Given the description of an element on the screen output the (x, y) to click on. 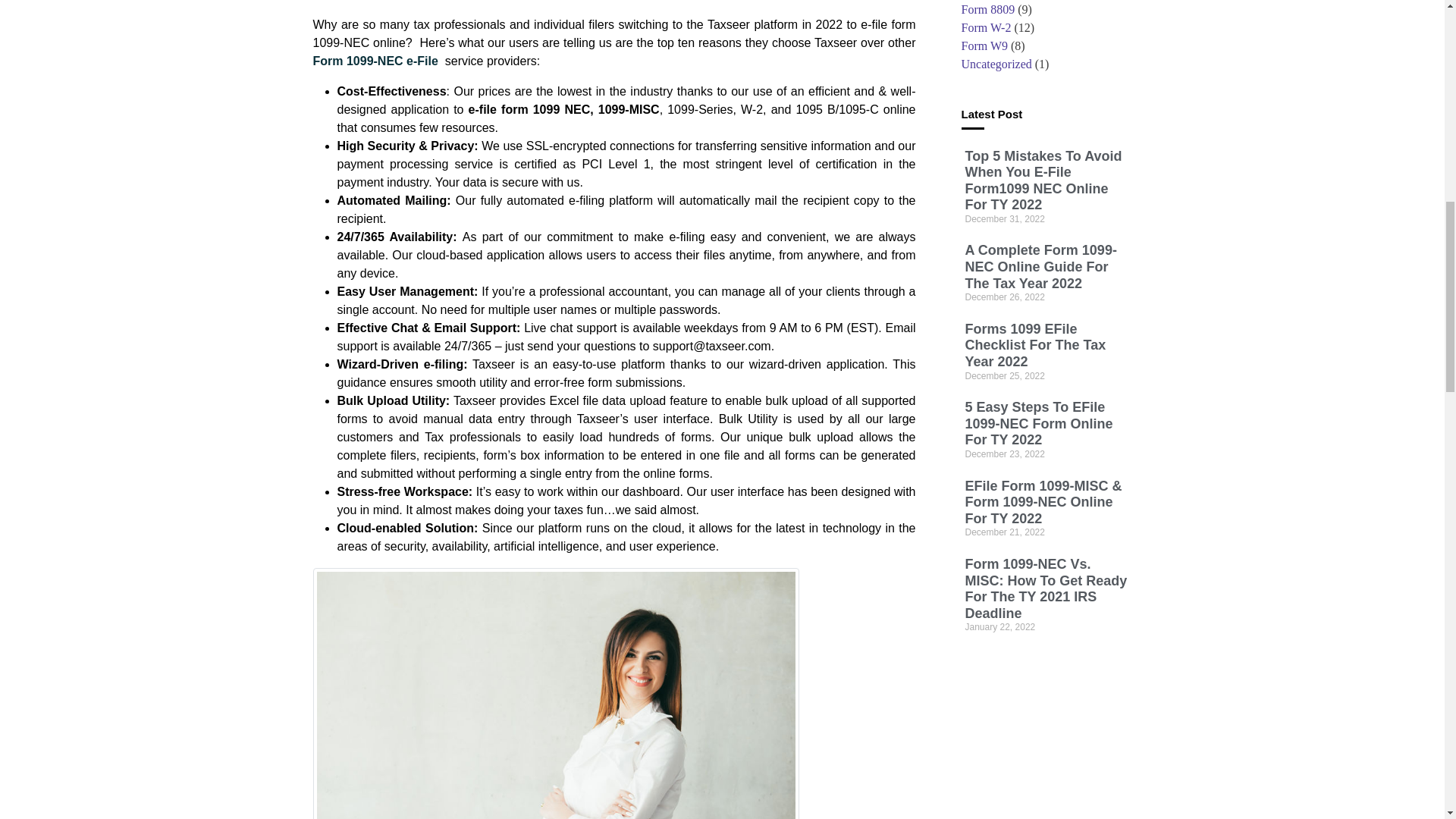
Form 8809 (987, 9)
Form W9 (983, 45)
Form W-2 (985, 27)
Form 1099-NEC e-File (375, 60)
